Given the description of an element on the screen output the (x, y) to click on. 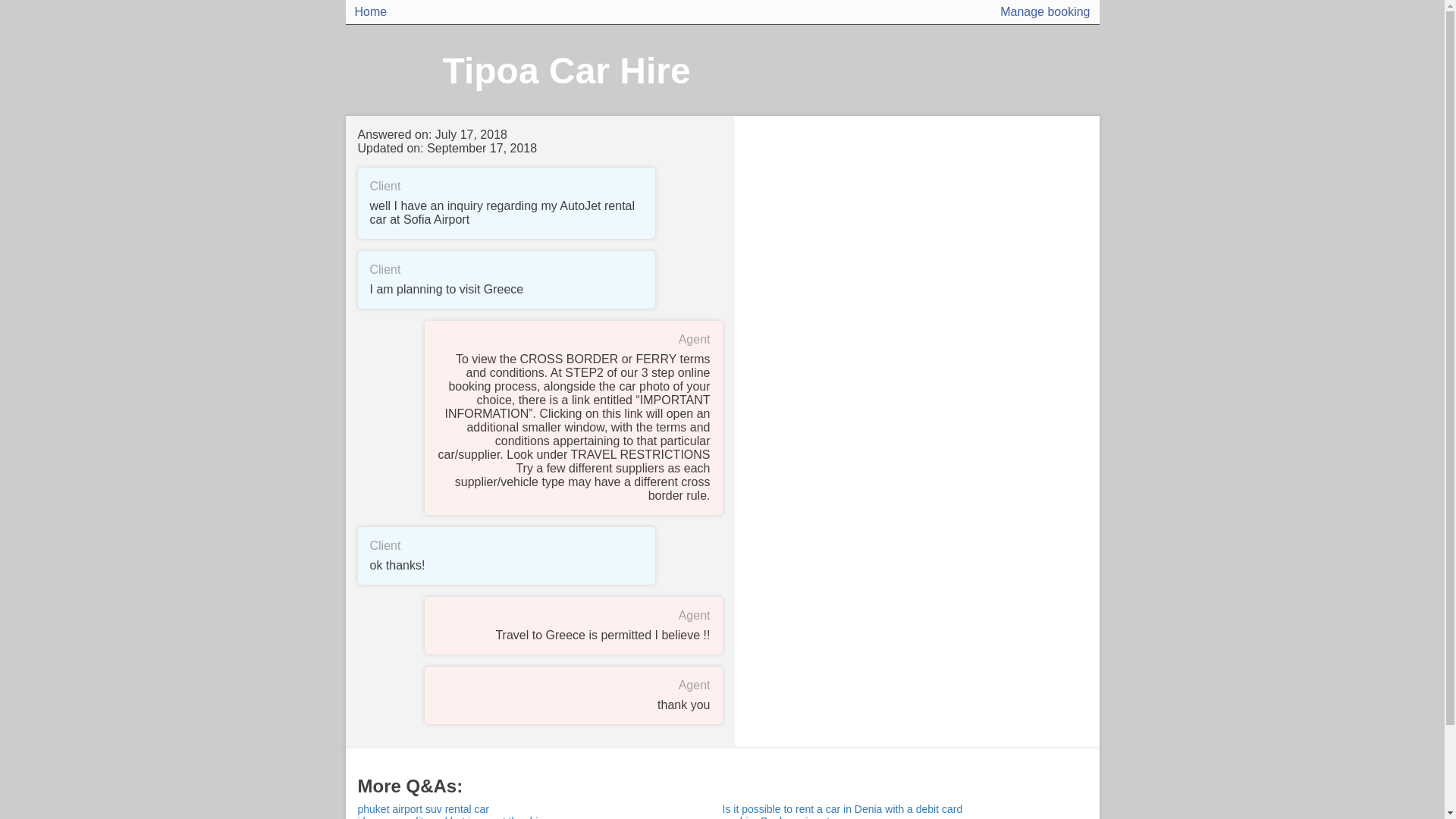
phuket airport suv rental car (540, 808)
Home (371, 11)
i have a credit card but i am not the driver (540, 816)
